Given the description of an element on the screen output the (x, y) to click on. 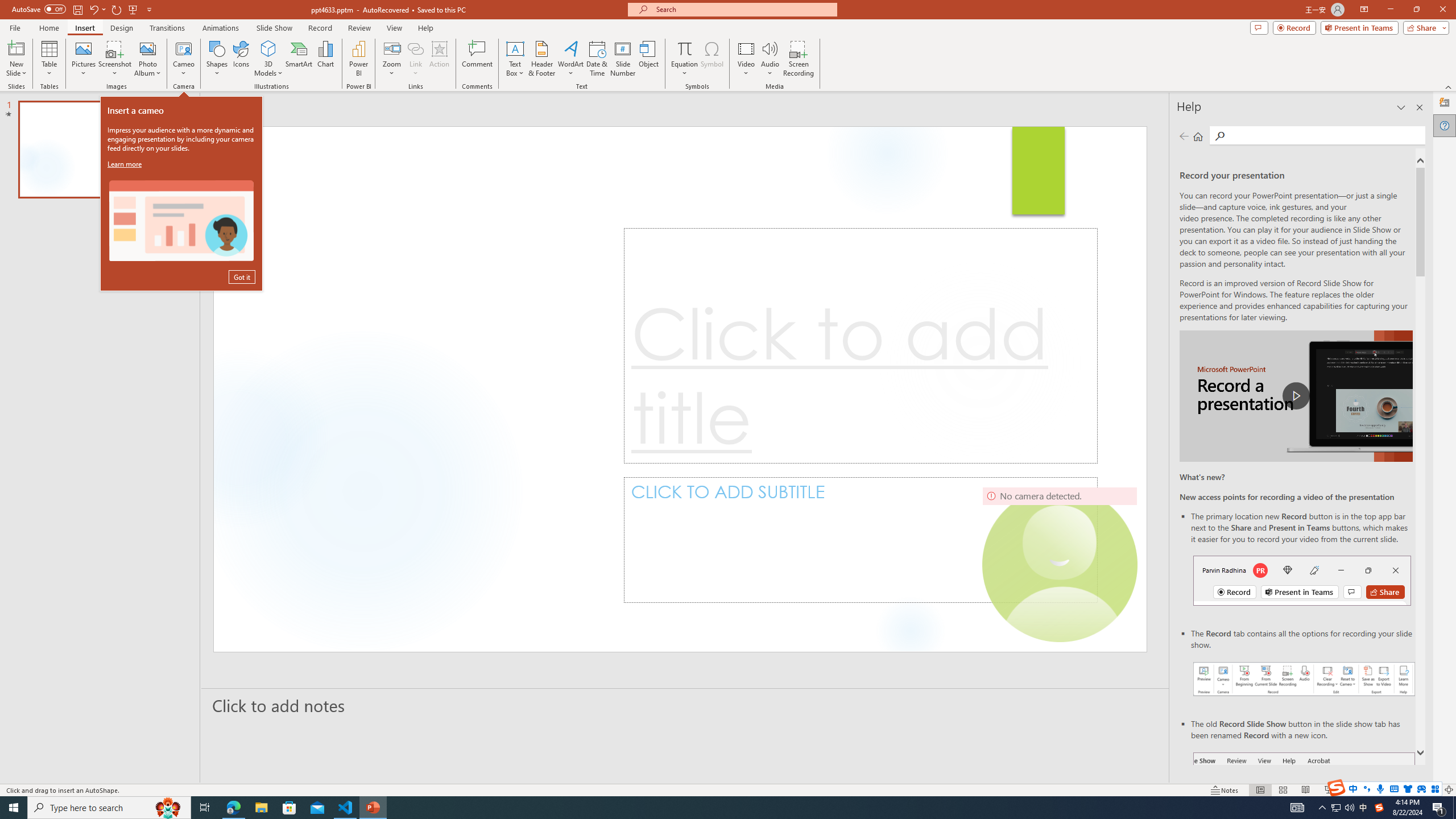
Slide Number (622, 58)
Chart... (325, 58)
Header & Footer... (541, 58)
Date & Time... (596, 58)
